Given the description of an element on the screen output the (x, y) to click on. 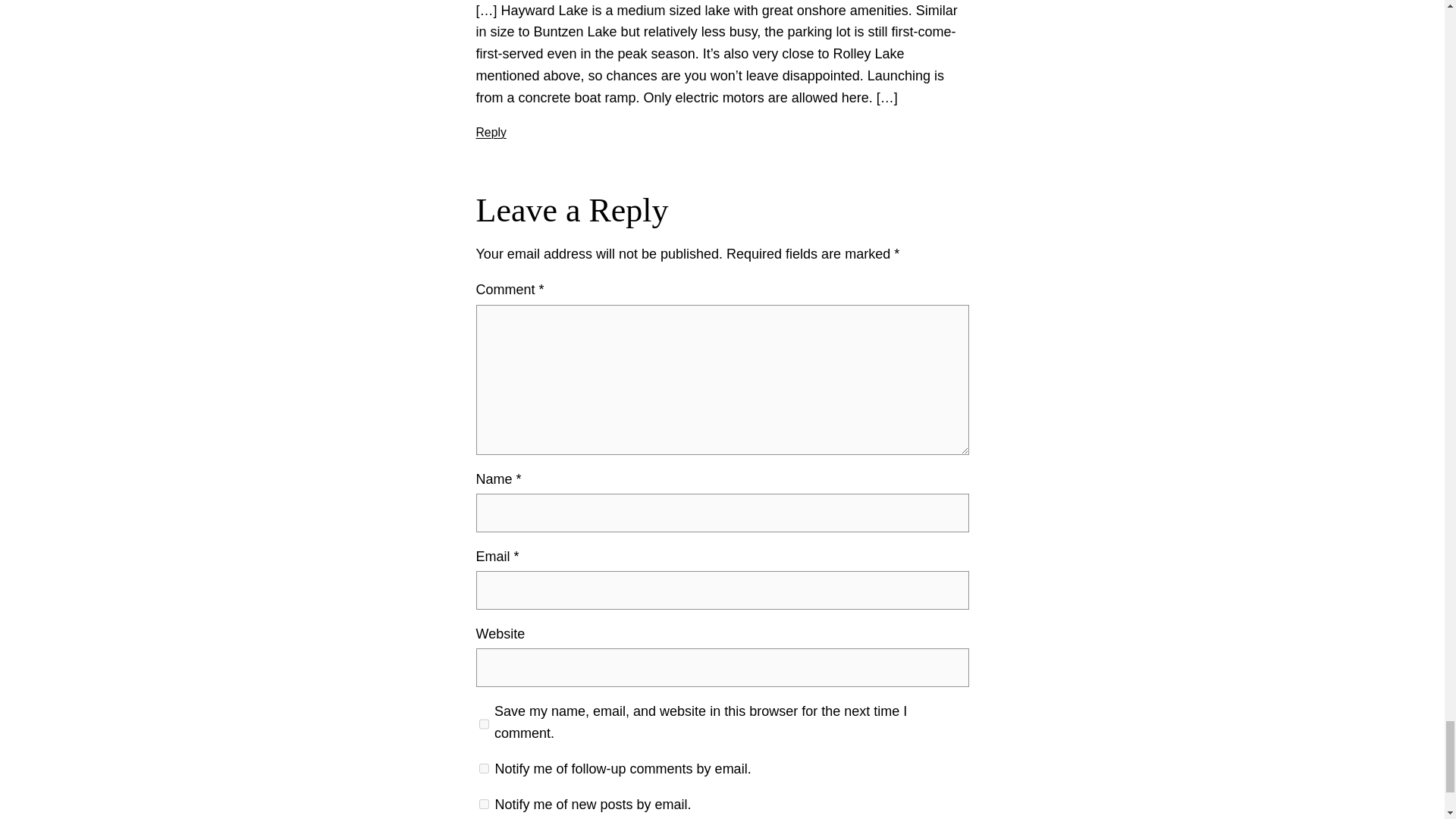
subscribe (484, 804)
subscribe (484, 768)
